Given the description of an element on the screen output the (x, y) to click on. 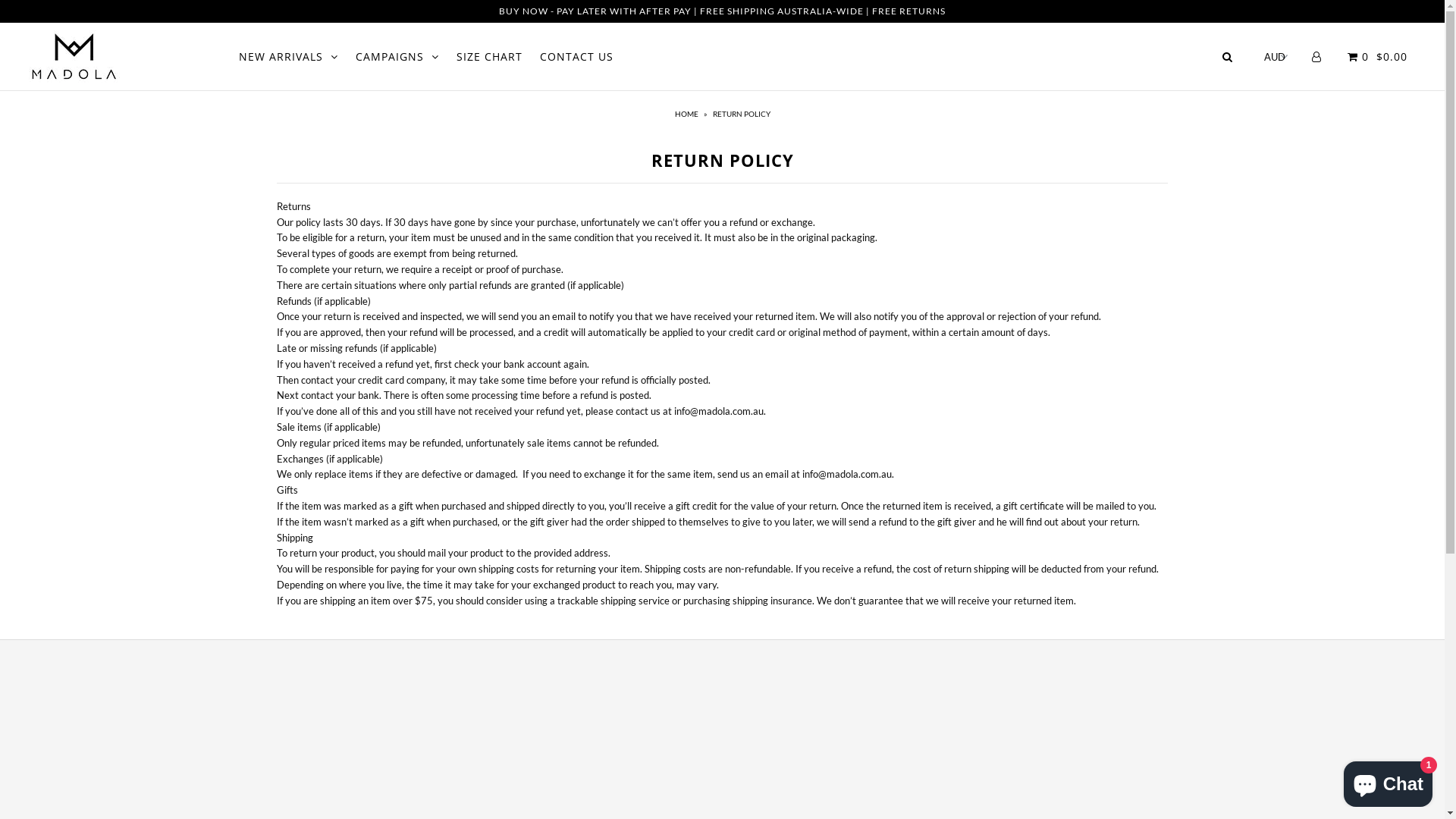
HOME Element type: text (688, 113)
CAMPAIGNS Element type: text (397, 56)
CONTACT US Element type: text (576, 56)
NEW ARRIVALS Element type: text (288, 56)
  0  $0.00 Element type: text (1375, 55)
Shopify online store chat Element type: hover (1388, 780)
SIZE CHART Element type: text (489, 56)
Join Element type: text (828, 736)
